Given the description of an element on the screen output the (x, y) to click on. 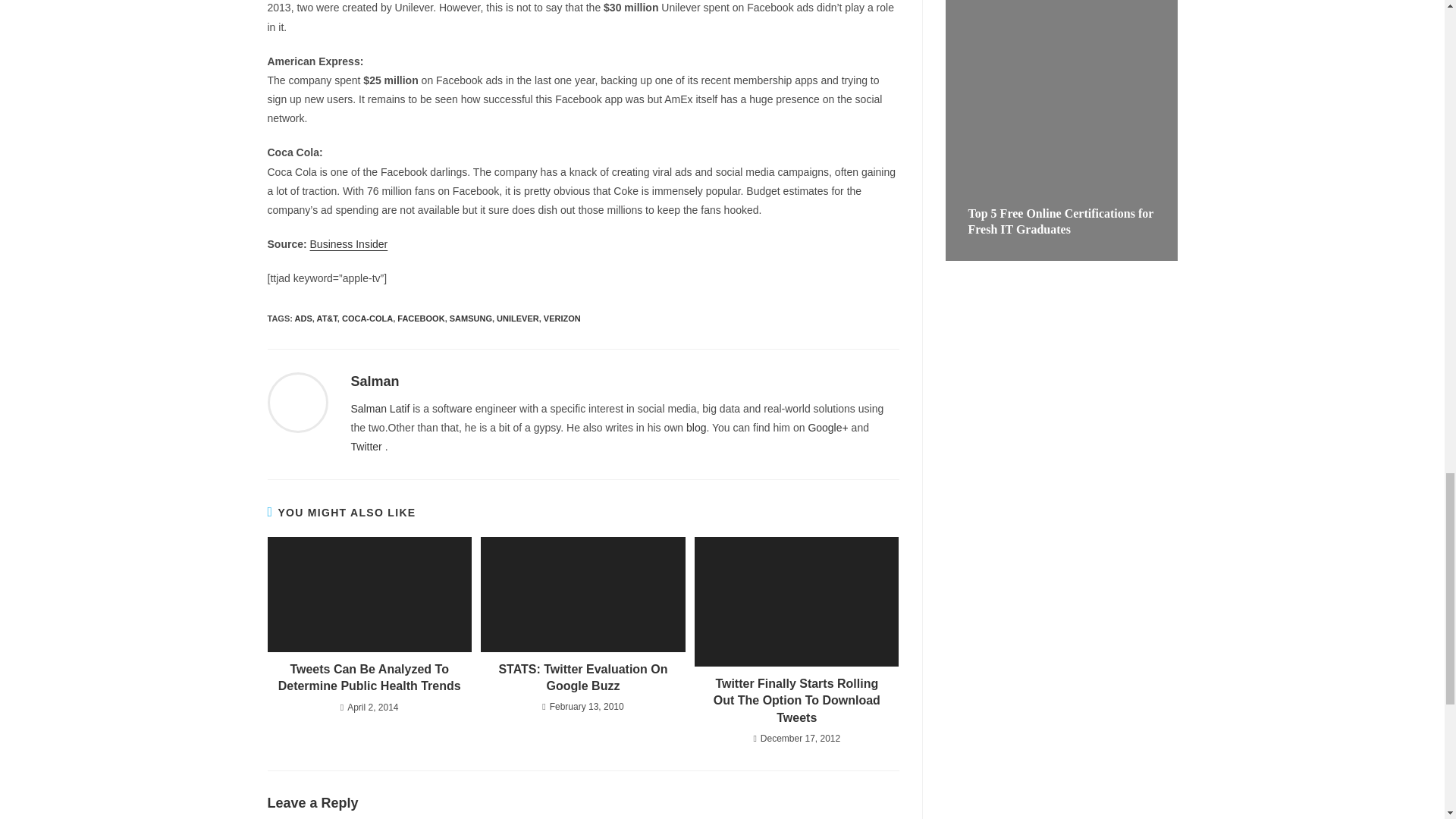
Visit author page (296, 401)
Top 5 Free Online Certifications for Fresh IT Graduates (1060, 221)
Business Insider (349, 244)
Visit author page (374, 381)
All Post By Salman Latif in TheTechJournal (379, 408)
